Given the description of an element on the screen output the (x, y) to click on. 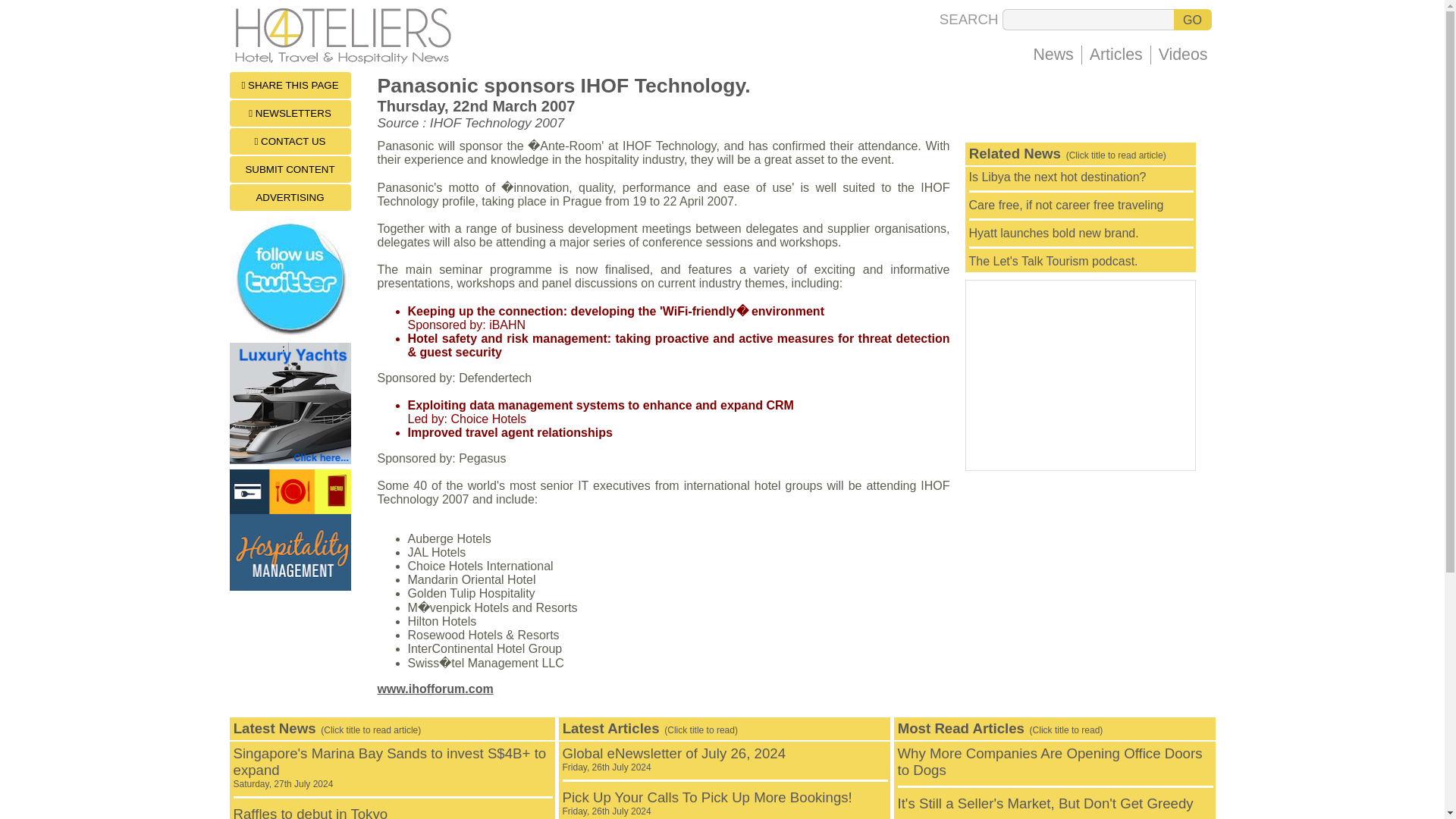
Click to read article (389, 767)
GO (1192, 19)
Click HERE to visit this website in a new window (435, 688)
Click to read article (310, 812)
Click to read article (1053, 232)
Advertisement (1079, 375)
Hyatt launches bold new brand. (1053, 232)
Why More Companies Are Opening Office Doors to Dogs (674, 759)
Click to read article (1050, 761)
News (1066, 205)
Click to read article (1052, 54)
Care free, if not career free traveling (1058, 176)
www.ihofforum.com (1066, 205)
